Given the description of an element on the screen output the (x, y) to click on. 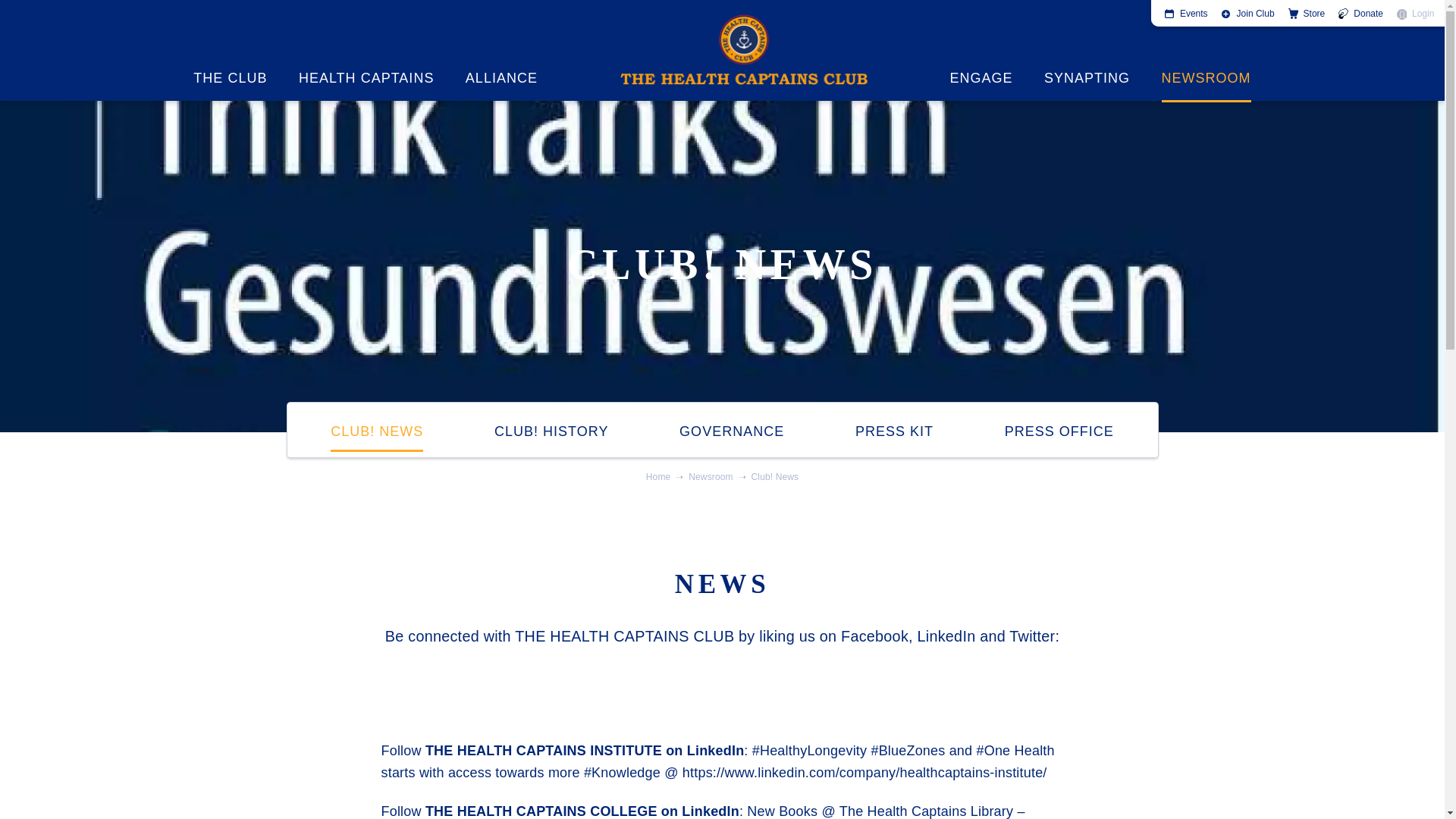
Donate (1360, 13)
Join Club (1248, 13)
Store (1306, 13)
Events (1186, 13)
NEWSROOM (1205, 50)
SYNAPTING (1086, 50)
HEALTH CAPTAINS (365, 50)
